Given the description of an element on the screen output the (x, y) to click on. 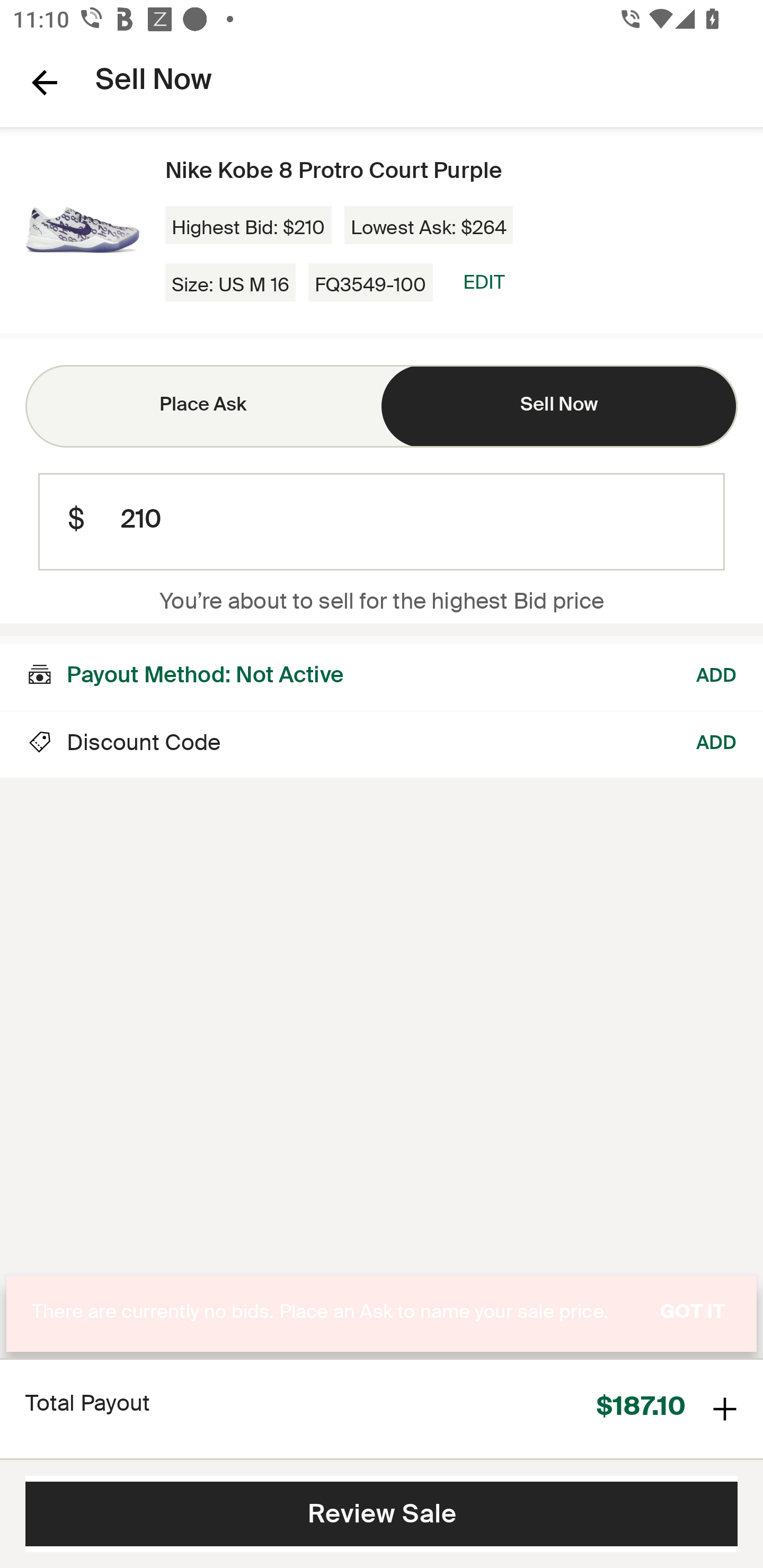
EDIT (483, 281)
Place Ask (203, 405)
Sell Now (559, 405)
210 $ (381, 521)
ADD (717, 673)
Discount icon Discount Code (123, 744)
ADD (717, 744)
GOT IT (692, 1313)
Total Payout $187.10 Total Payout plus icon (381, 1407)
reviewButtonContentDescriptionID Review Sale (381, 1513)
